Given the description of an element on the screen output the (x, y) to click on. 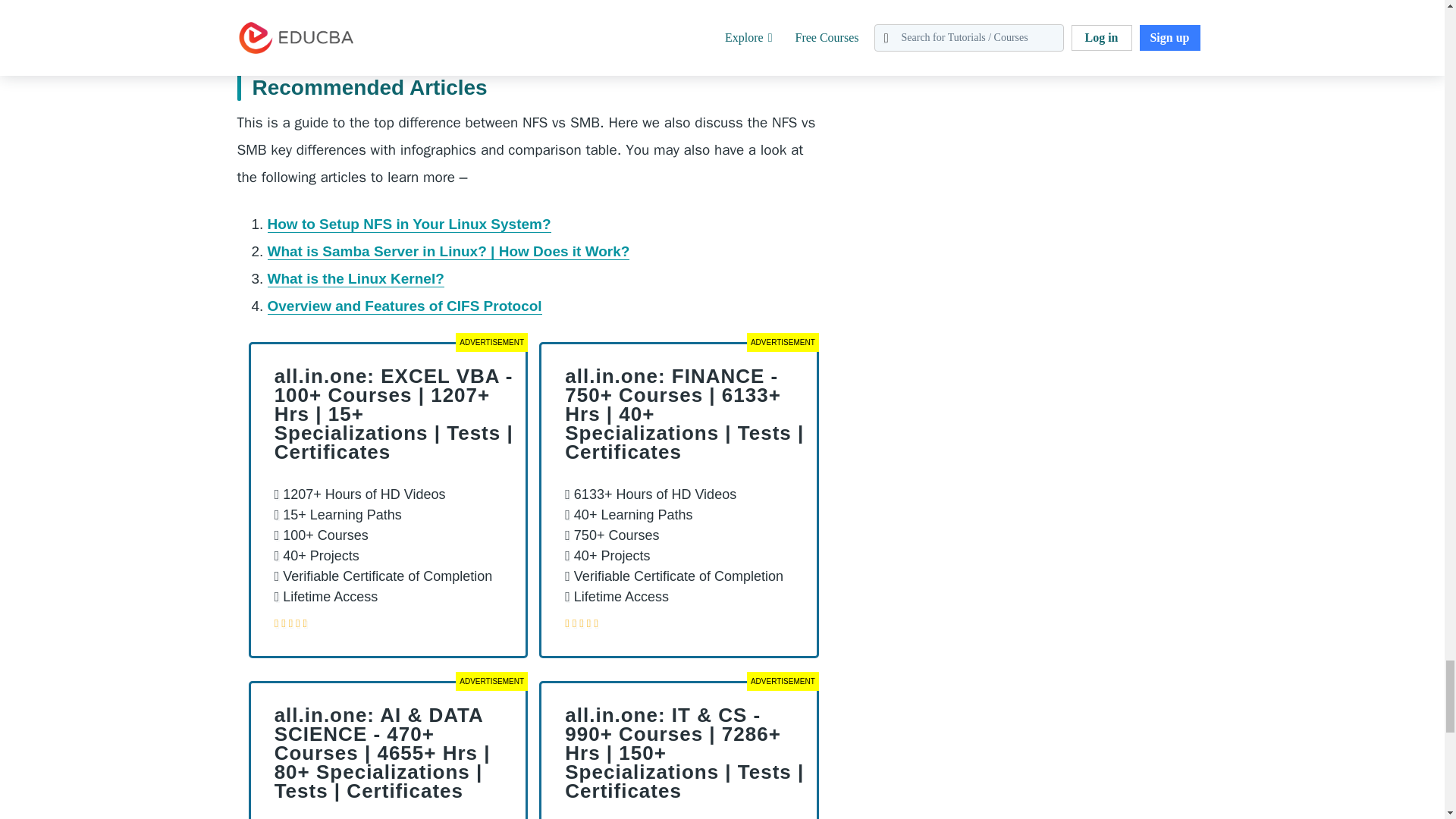
Overview and Features of CIFS Protocol (403, 306)
How to Setup NFS in Your Linux System? (408, 224)
What is the Linux Kernel? (355, 279)
